Given the description of an element on the screen output the (x, y) to click on. 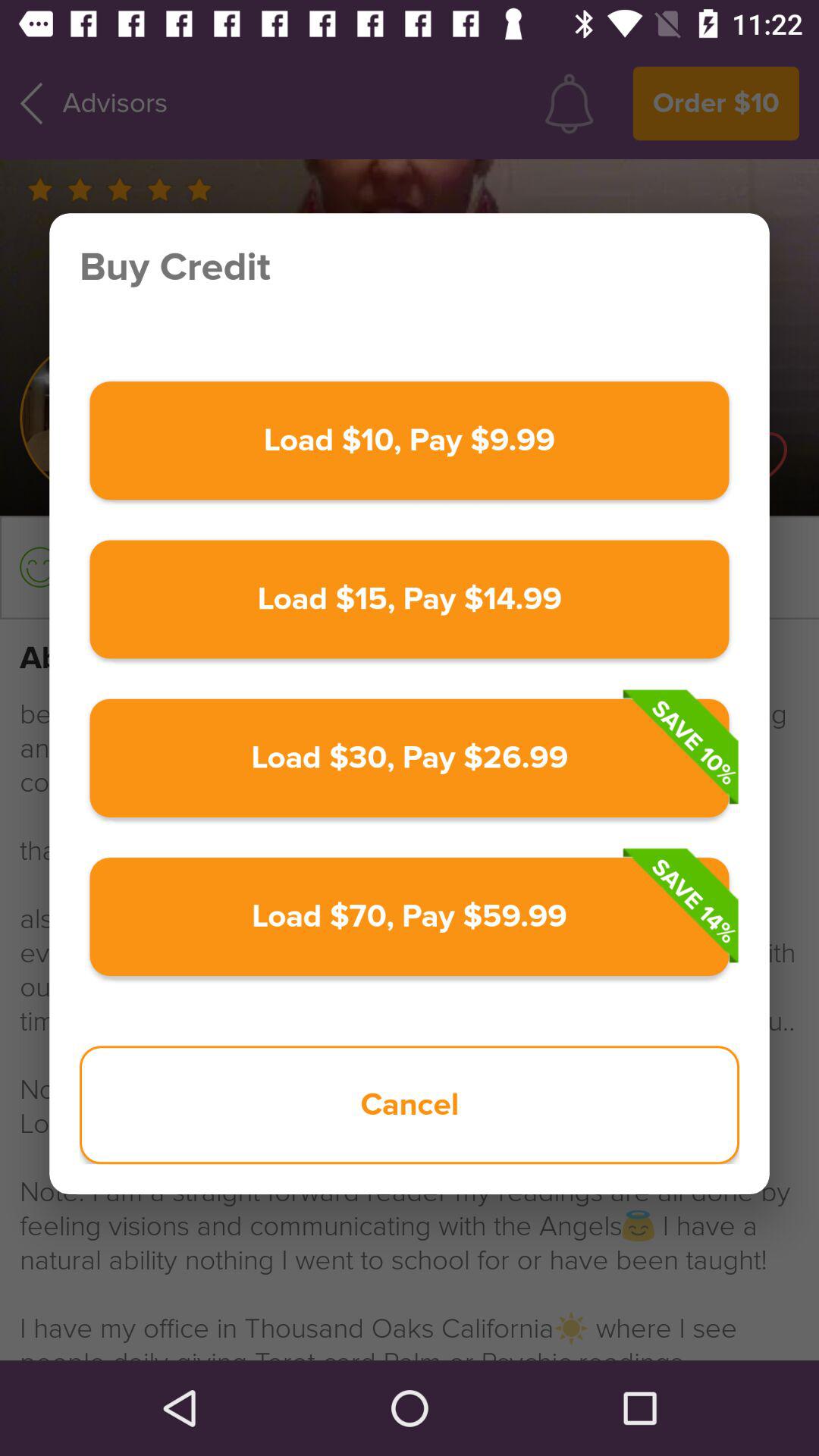
click icon at the bottom (409, 1104)
